Given the description of an element on the screen output the (x, y) to click on. 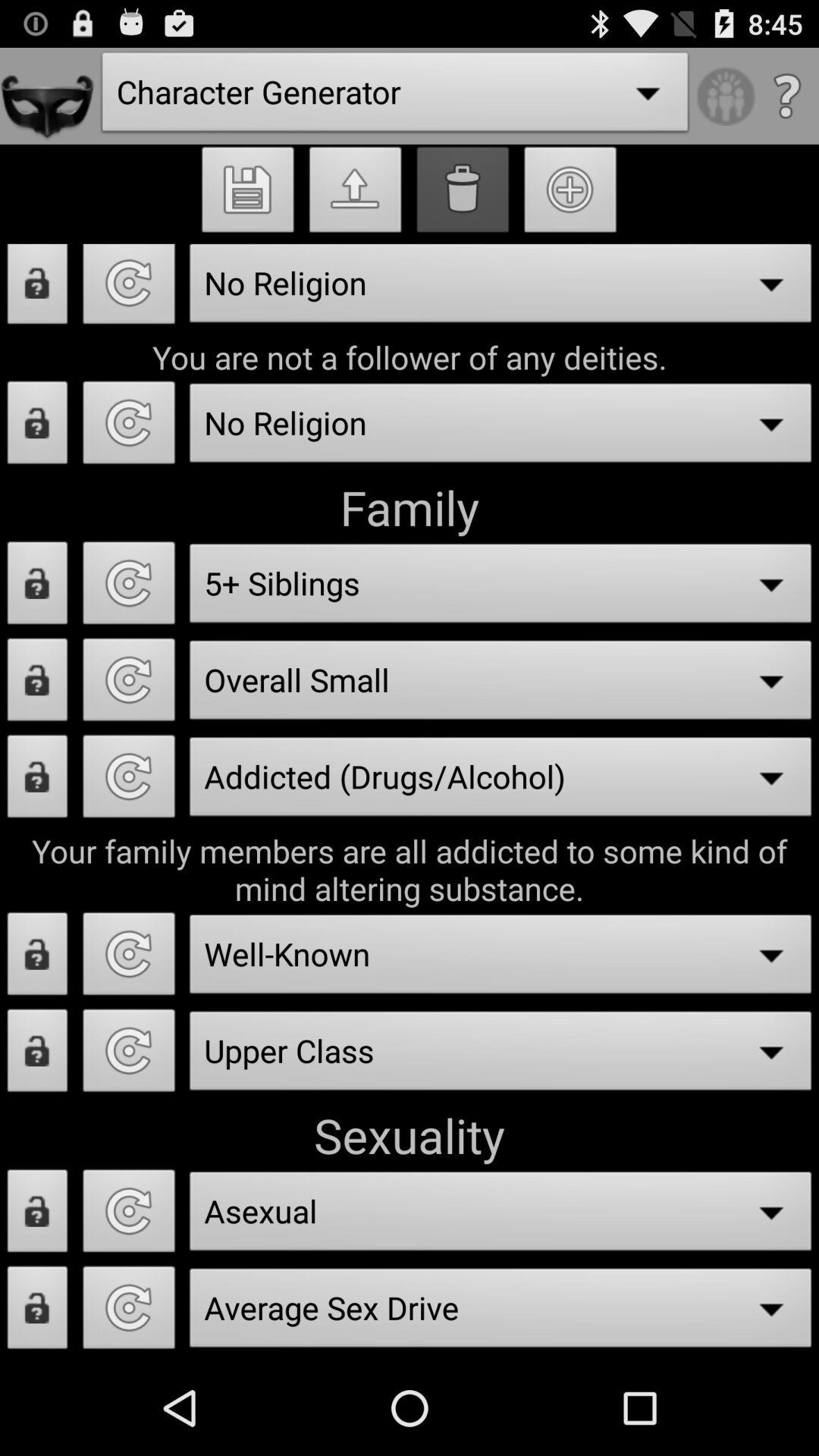
toggle trait lock option (37, 683)
